Given the description of an element on the screen output the (x, y) to click on. 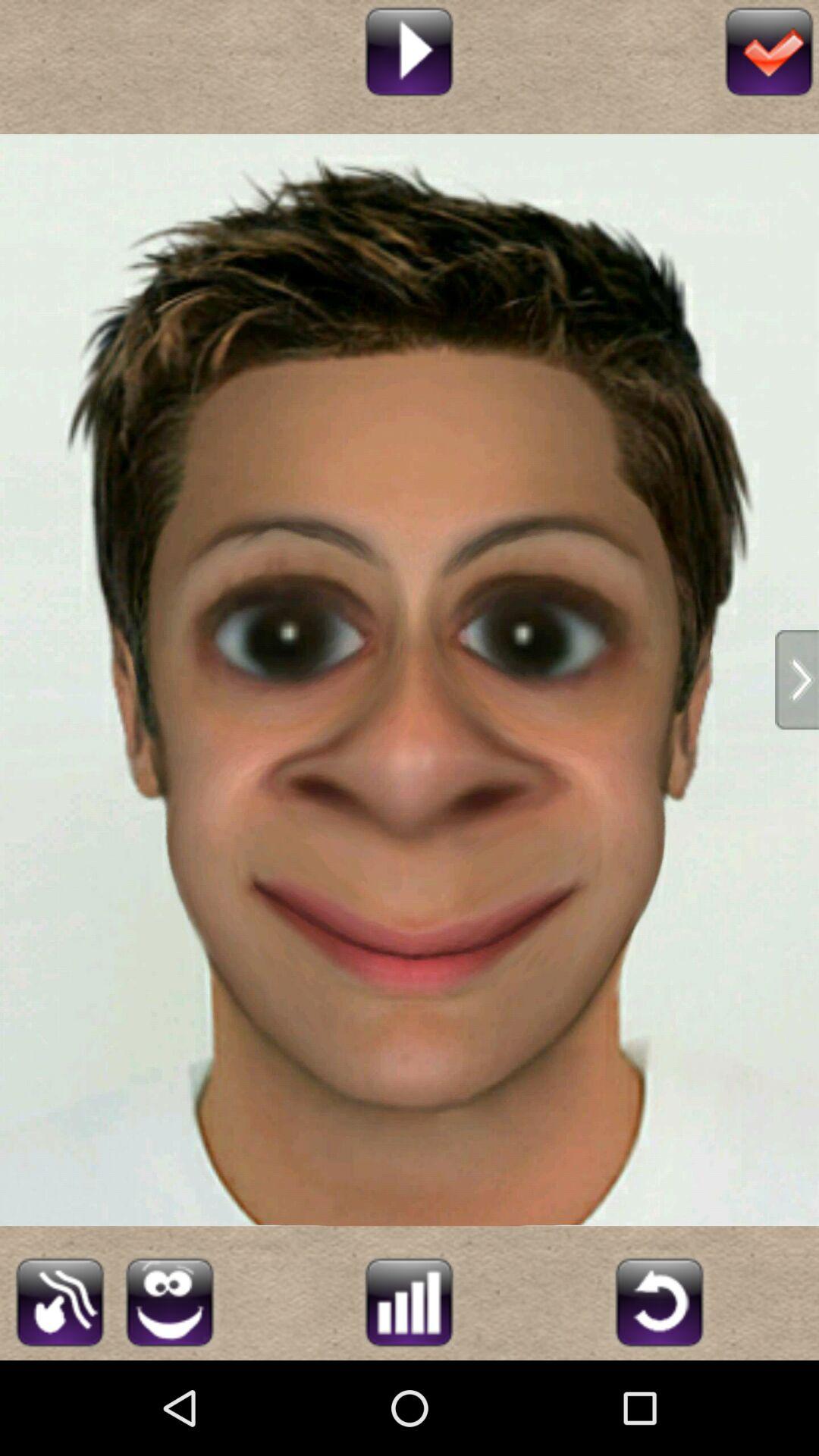
refresh screen (659, 1300)
